Given the description of an element on the screen output the (x, y) to click on. 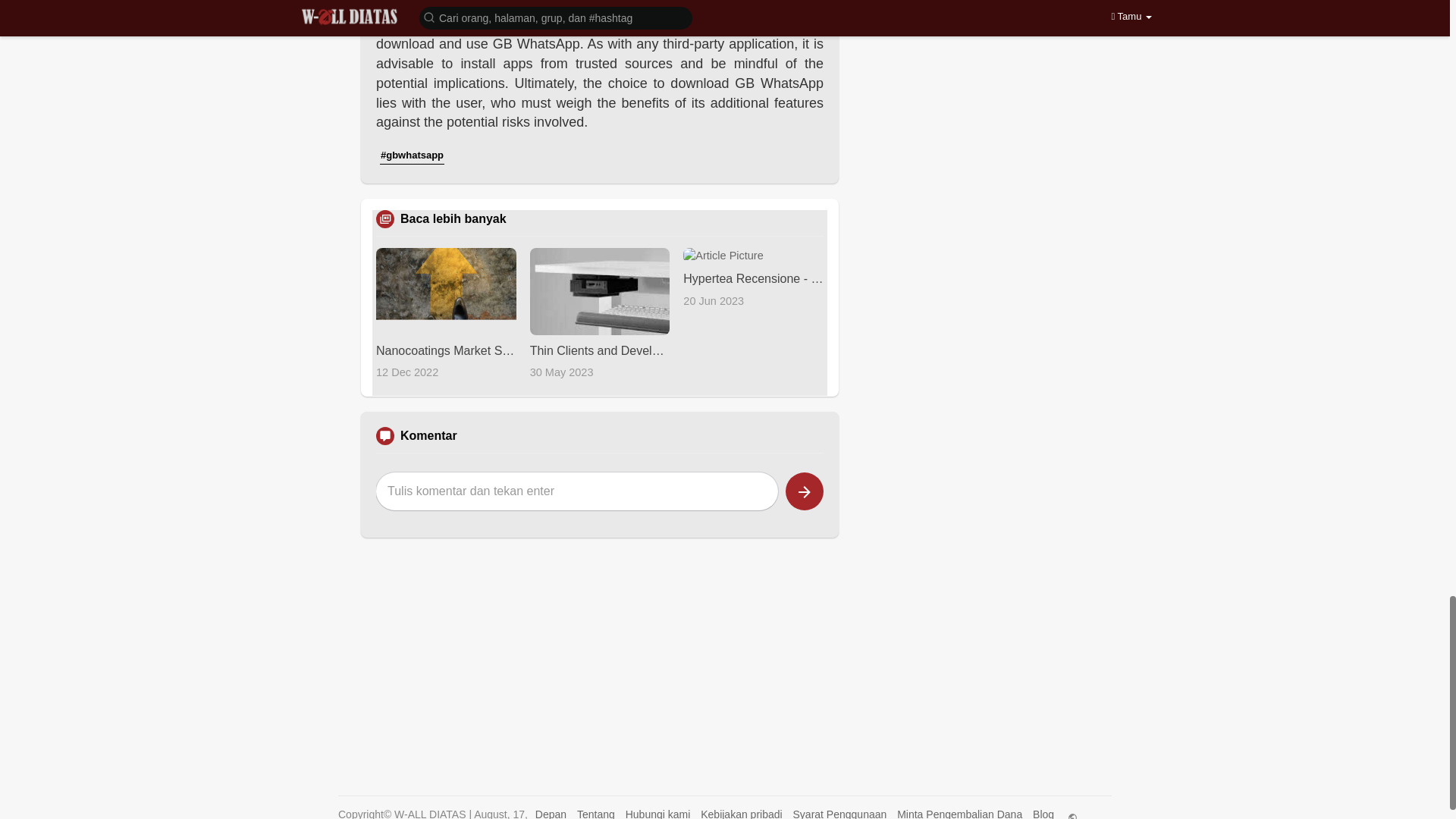
Hypertea Recensione - Migliorare la salute cardiovascolare (753, 278)
